Given the description of an element on the screen output the (x, y) to click on. 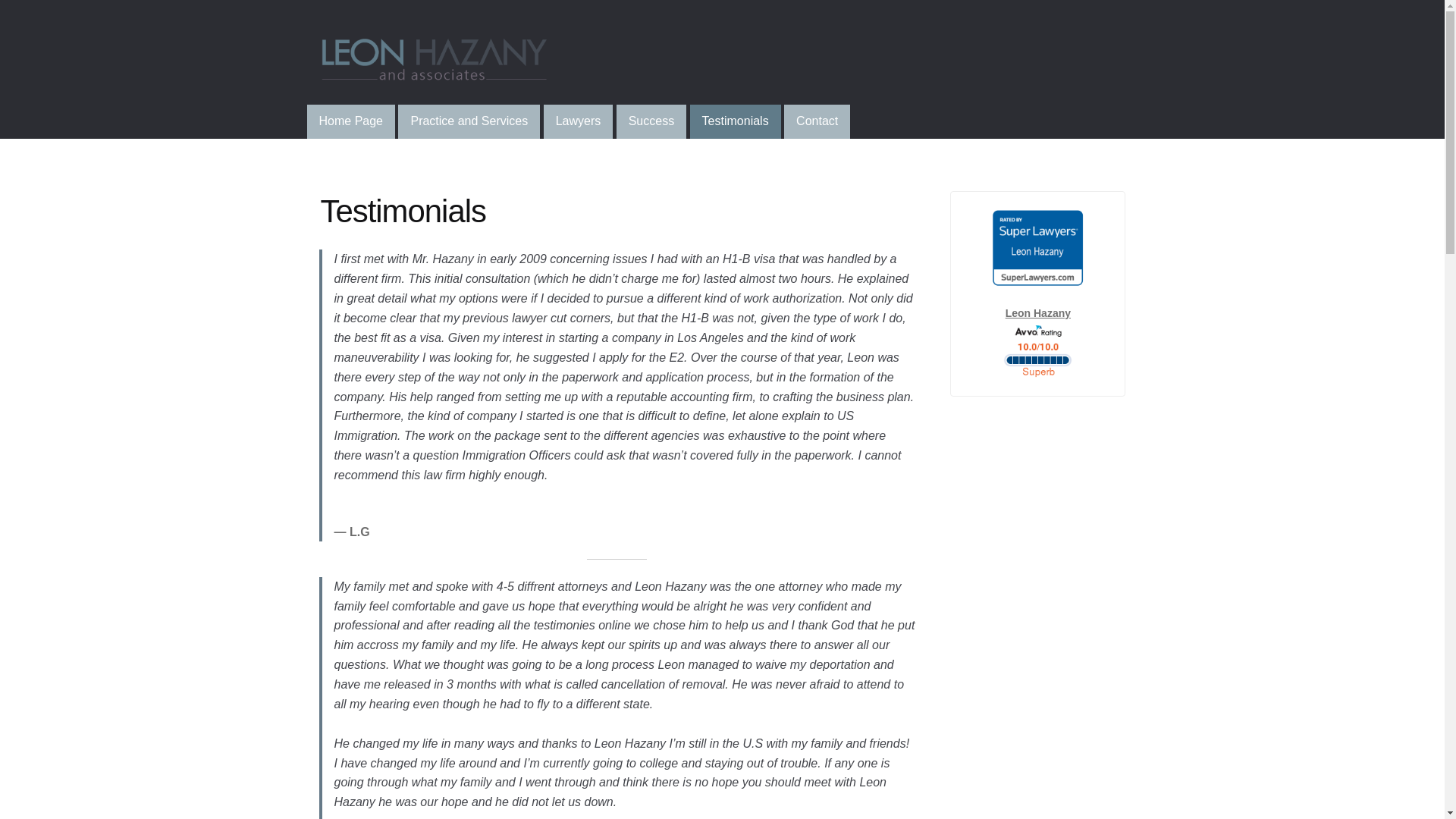
Home Page (351, 121)
Lawyers (577, 121)
Leon Hazany (1037, 343)
Testimonials (735, 121)
Practice and Services (468, 121)
Contact (817, 121)
Success (650, 121)
